Given the description of an element on the screen output the (x, y) to click on. 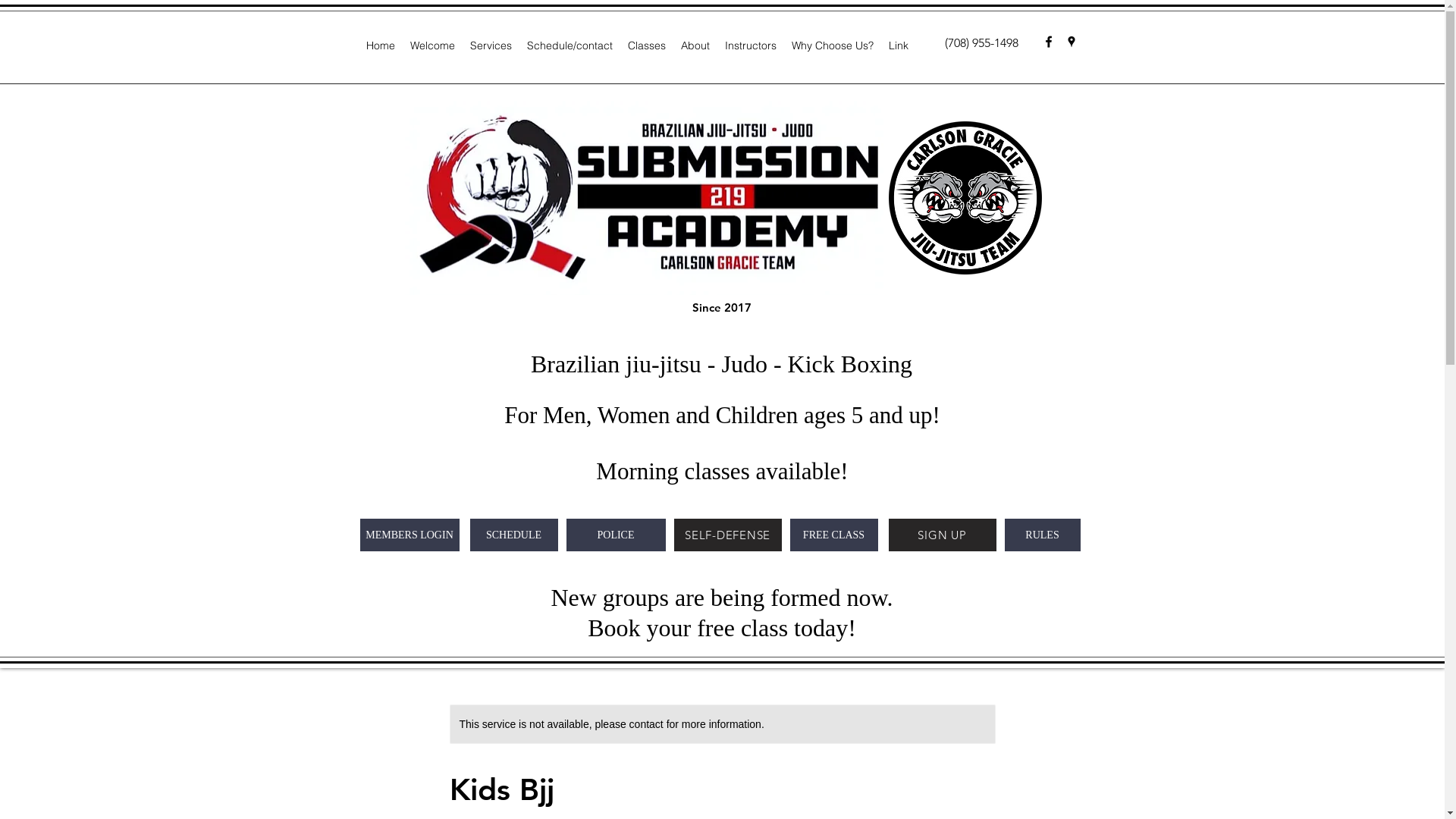
SIGN UP Element type: text (942, 534)
FREE CLASS Element type: text (834, 534)
POLICE Element type: text (615, 534)
Welcome Element type: text (431, 45)
About Element type: text (695, 45)
RULES Element type: text (1041, 534)
SCHEDULE Element type: text (514, 534)
MEMBERS LOGIN Element type: text (408, 534)
Why Choose Us? Element type: text (832, 45)
Schedule/contact Element type: text (568, 45)
Classes Element type: text (646, 45)
Link Element type: text (898, 45)
Services Element type: text (490, 45)
Instructors Element type: text (750, 45)
Home Element type: text (379, 45)
SELF-DEFENSE Element type: text (727, 534)
